Given the description of an element on the screen output the (x, y) to click on. 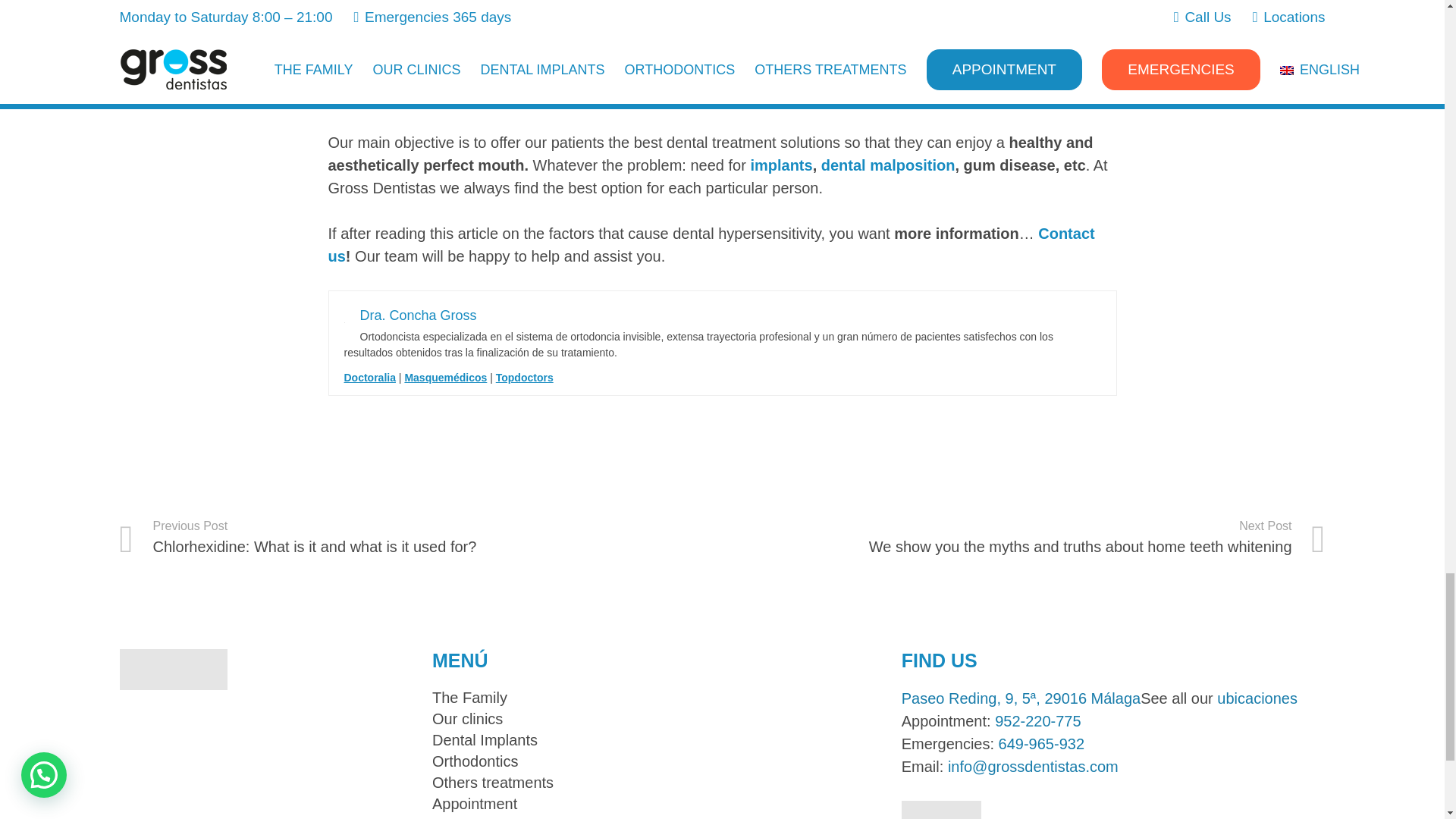
We show you the myths and truths about home teeth whitening (1023, 536)
Email Dental Clinic Gross Dentistas Malaga (1032, 766)
Topdoctors (524, 377)
Chlorhexidine: What is it and what is it used for? (420, 536)
Dra. Concha Gross (417, 314)
Contact us (710, 244)
implants (780, 165)
dental malposition (888, 165)
Doctoralia (369, 377)
